Given the description of an element on the screen output the (x, y) to click on. 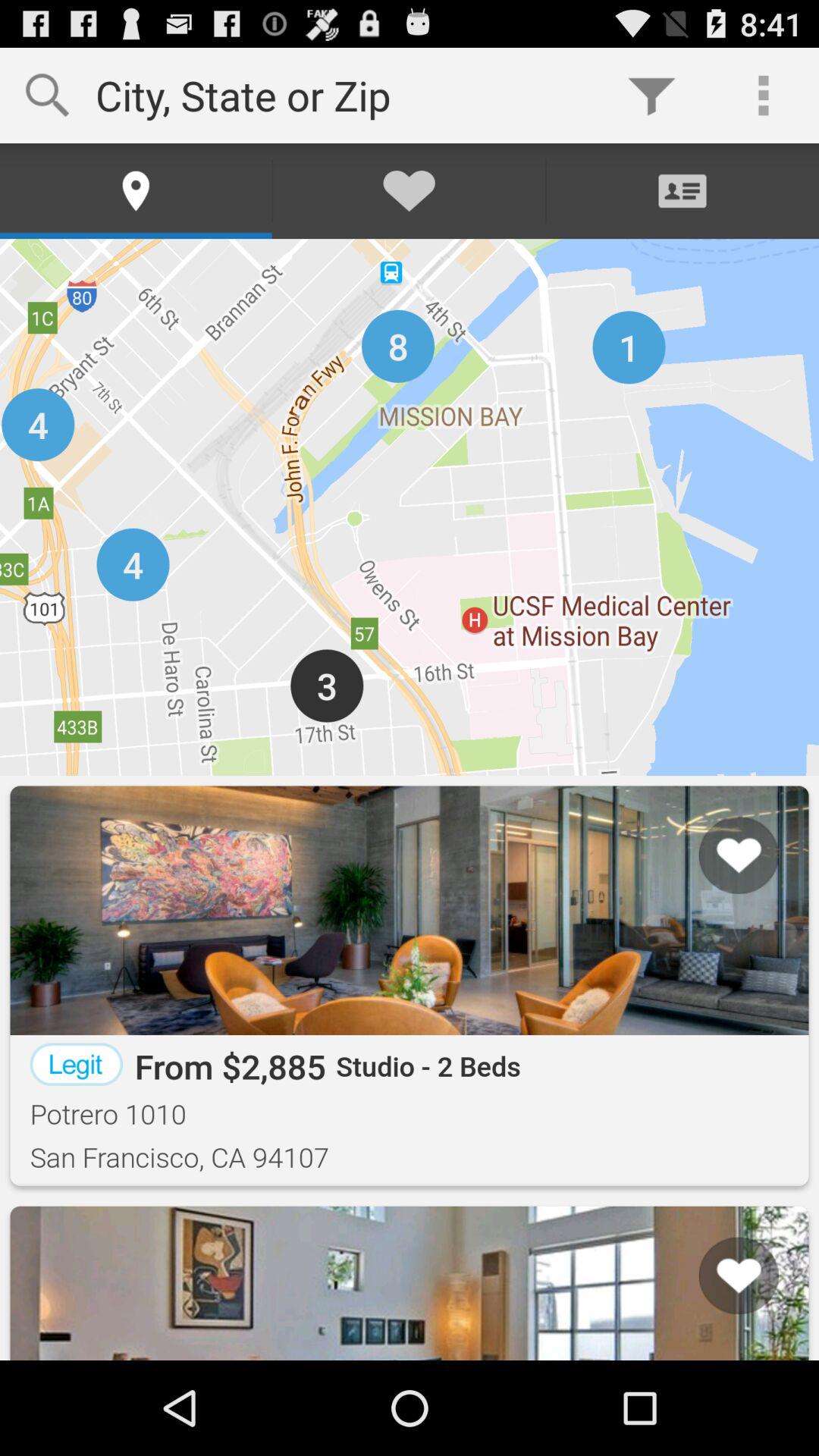
click the list item (719, 1302)
